Given the description of an element on the screen output the (x, y) to click on. 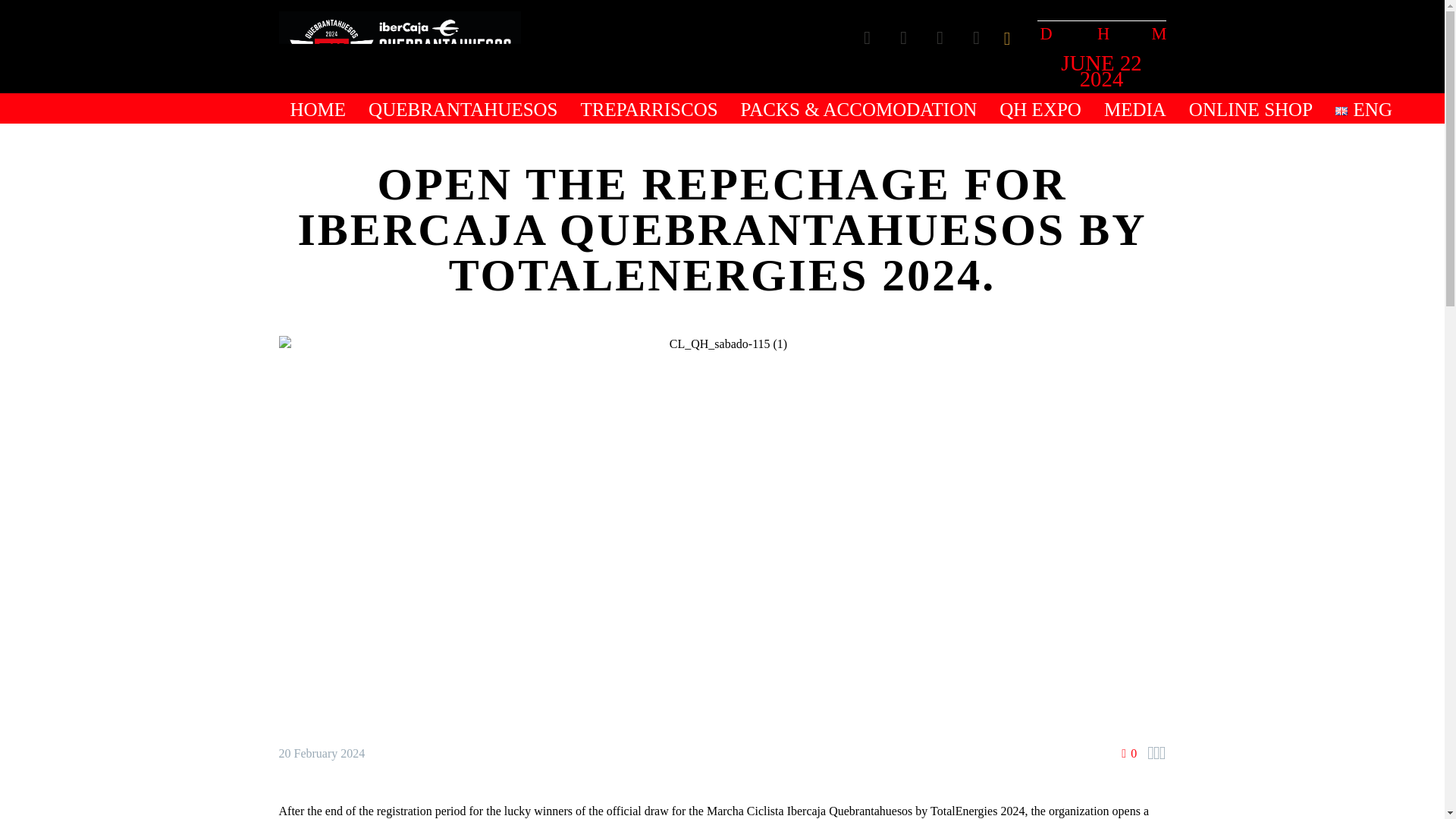
MEDIA (1135, 108)
ENG (1341, 111)
Like this (1129, 753)
QUEBRANTAHUESOS (462, 108)
QH EXPO (1040, 108)
TREPARRISCOS (649, 108)
ENG (1363, 108)
HOME (318, 108)
ONLINE SHOP (1250, 108)
